Given the description of an element on the screen output the (x, y) to click on. 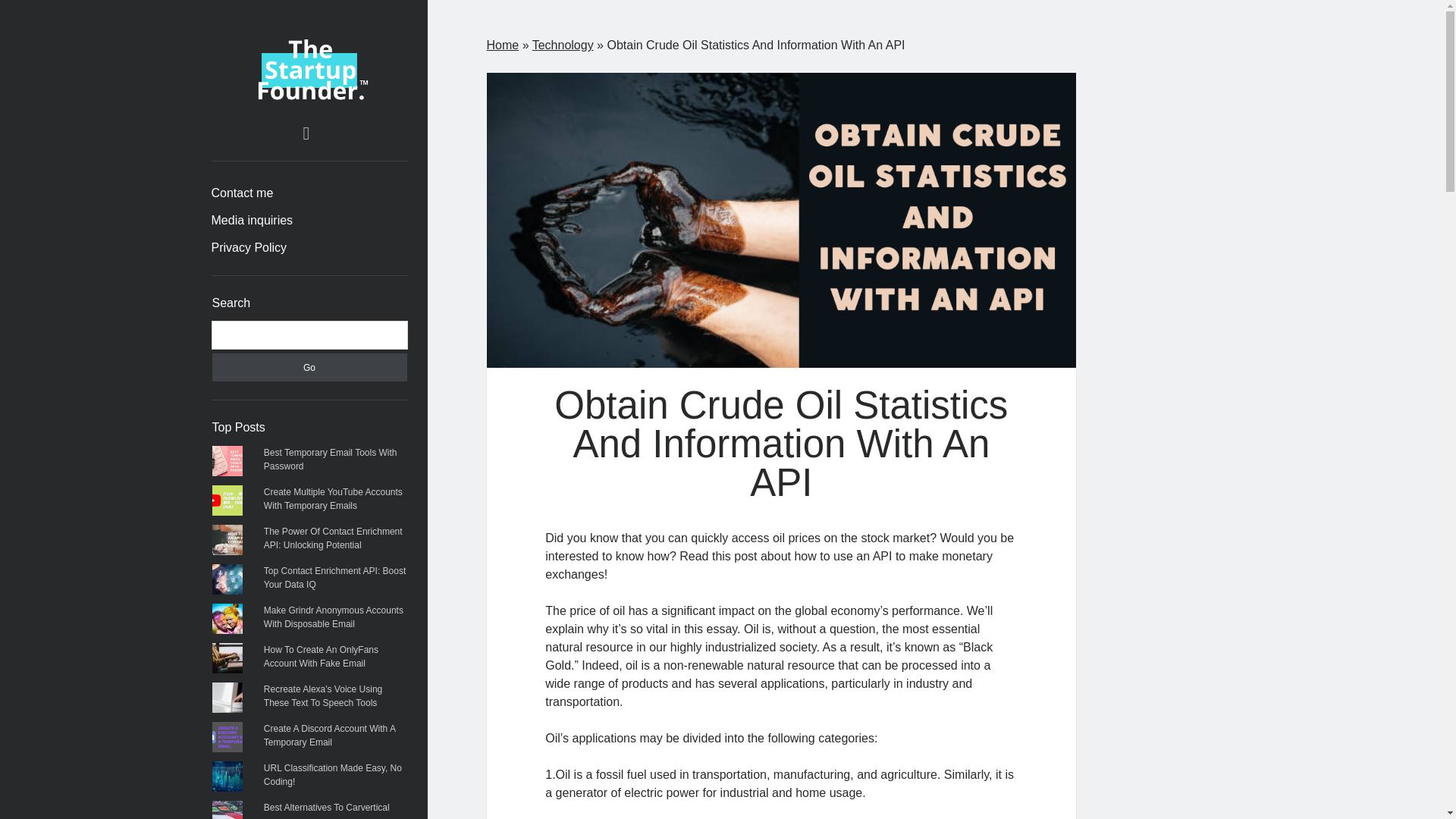
Make Grindr Anonymous Accounts With Disposable Email (333, 617)
Make Grindr Anonymous Accounts With Disposable Email (333, 617)
Go (309, 366)
Privacy Policy (248, 248)
Contact me (242, 193)
Best Temporary Email Tools With Password (330, 459)
Best Alternatives To Carvertical (326, 807)
Top Contact Enrichment API: Boost Your Data IQ (334, 577)
Media inquiries (251, 220)
How To Create An OnlyFans Account With Fake Email (320, 656)
